Given the description of an element on the screen output the (x, y) to click on. 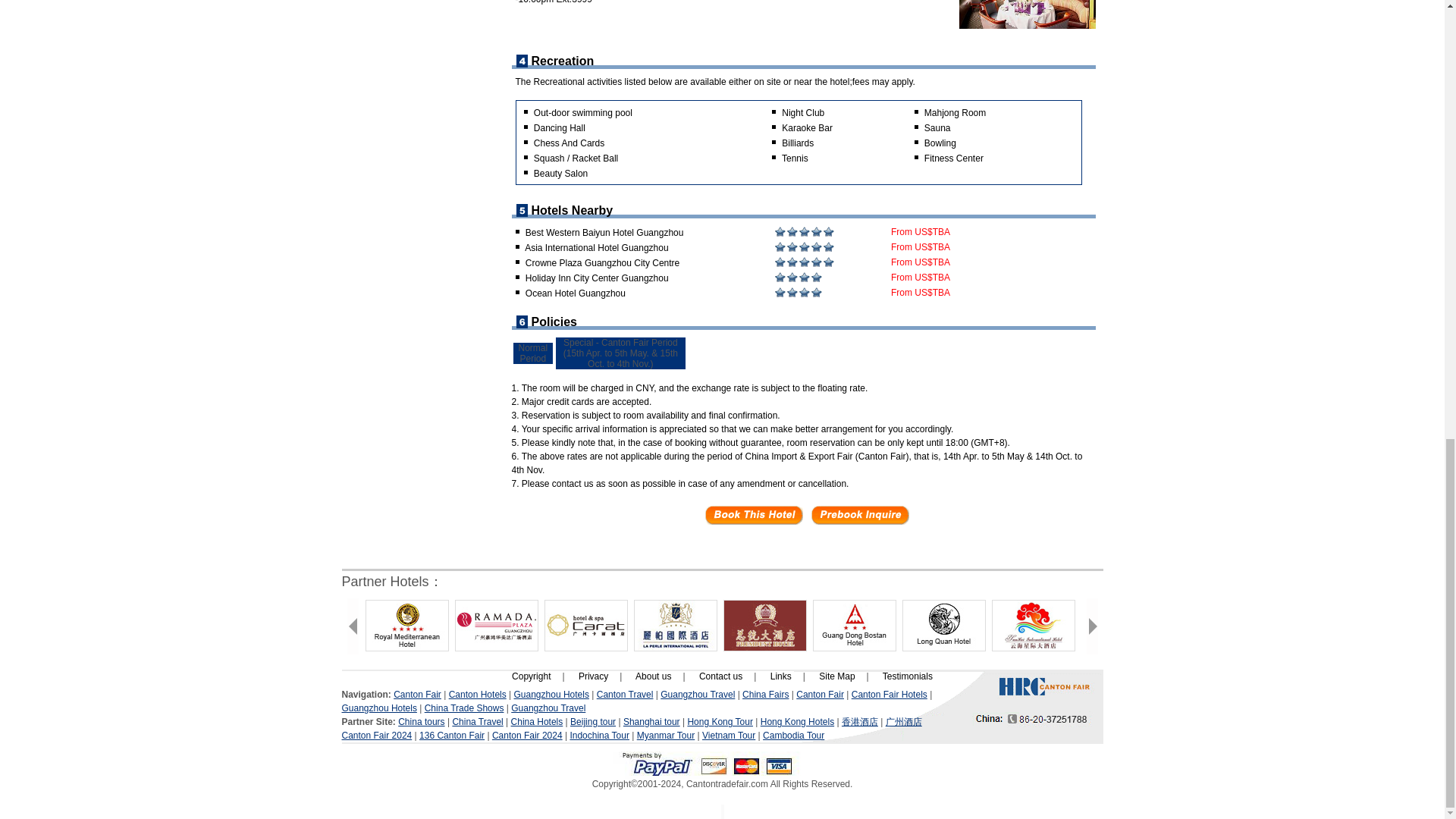
Crowne Plaza Guangzhou City Centre (602, 262)
Ocean Hotel Guangzhou (575, 293)
Normal Period (533, 353)
Asia International Hotel Guangzhou (596, 247)
Holiday Inn City Center Guangzhou (596, 277)
Best Western Baiyun Hotel Guangzhou (604, 232)
